Given the description of an element on the screen output the (x, y) to click on. 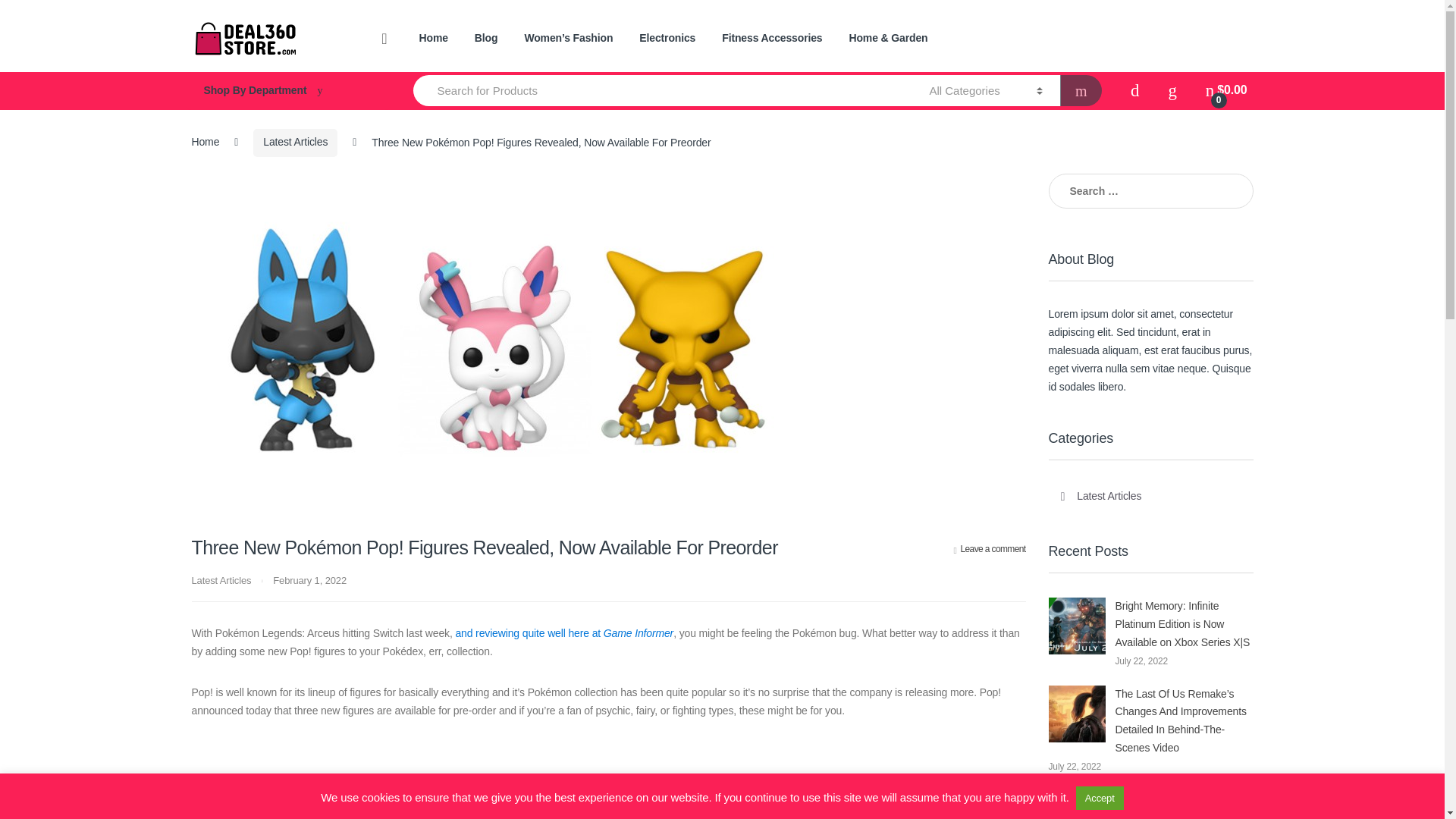
Shop By Department (287, 90)
Fitness Accessories (772, 38)
Electronics (667, 38)
